Given the description of an element on the screen output the (x, y) to click on. 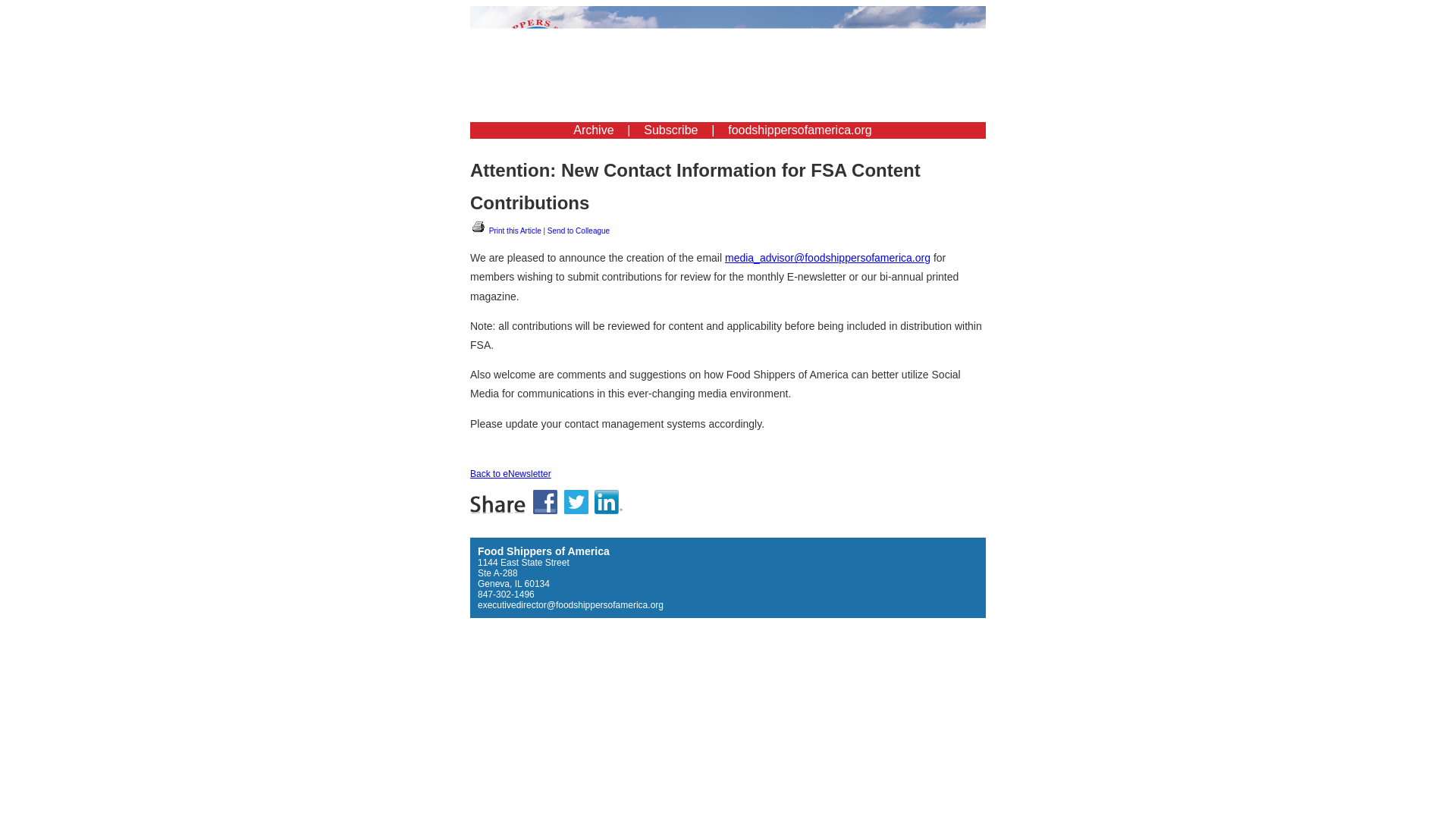
foodshippersofamerica.org (799, 129)
Subscribe (670, 129)
foodshippersofamerica.org (799, 129)
Back to eNewsletter (510, 473)
Send to Colleague (578, 230)
Print this Article (505, 230)
Archive (592, 129)
Subscribe (670, 129)
Archive (592, 129)
